Given the description of an element on the screen output the (x, y) to click on. 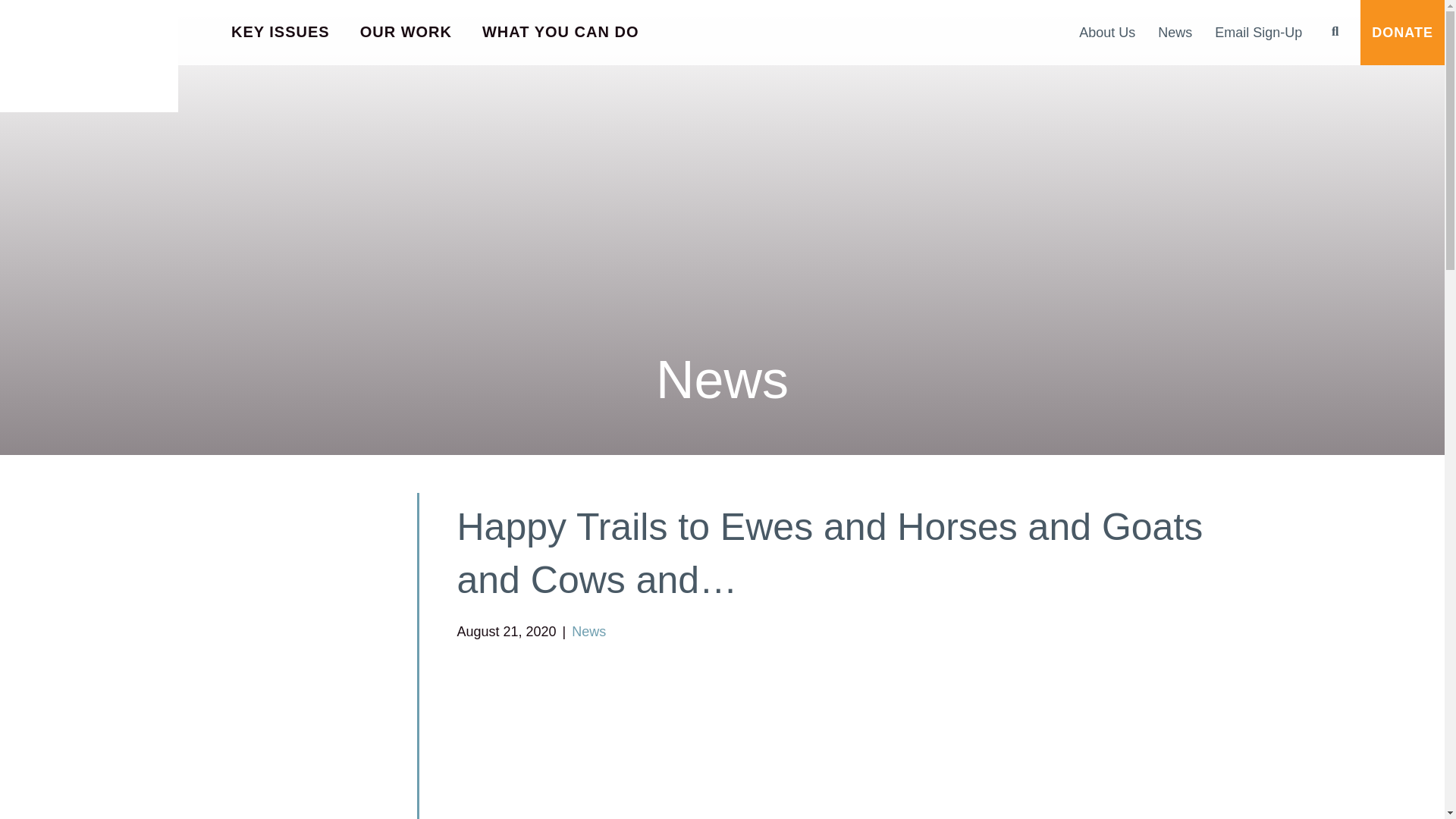
Logo (89, 56)
WHAT YOU CAN DO (560, 32)
KEY ISSUES (280, 32)
Hazel After 300x225 (862, 745)
OUR WORK (406, 32)
